Given the description of an element on the screen output the (x, y) to click on. 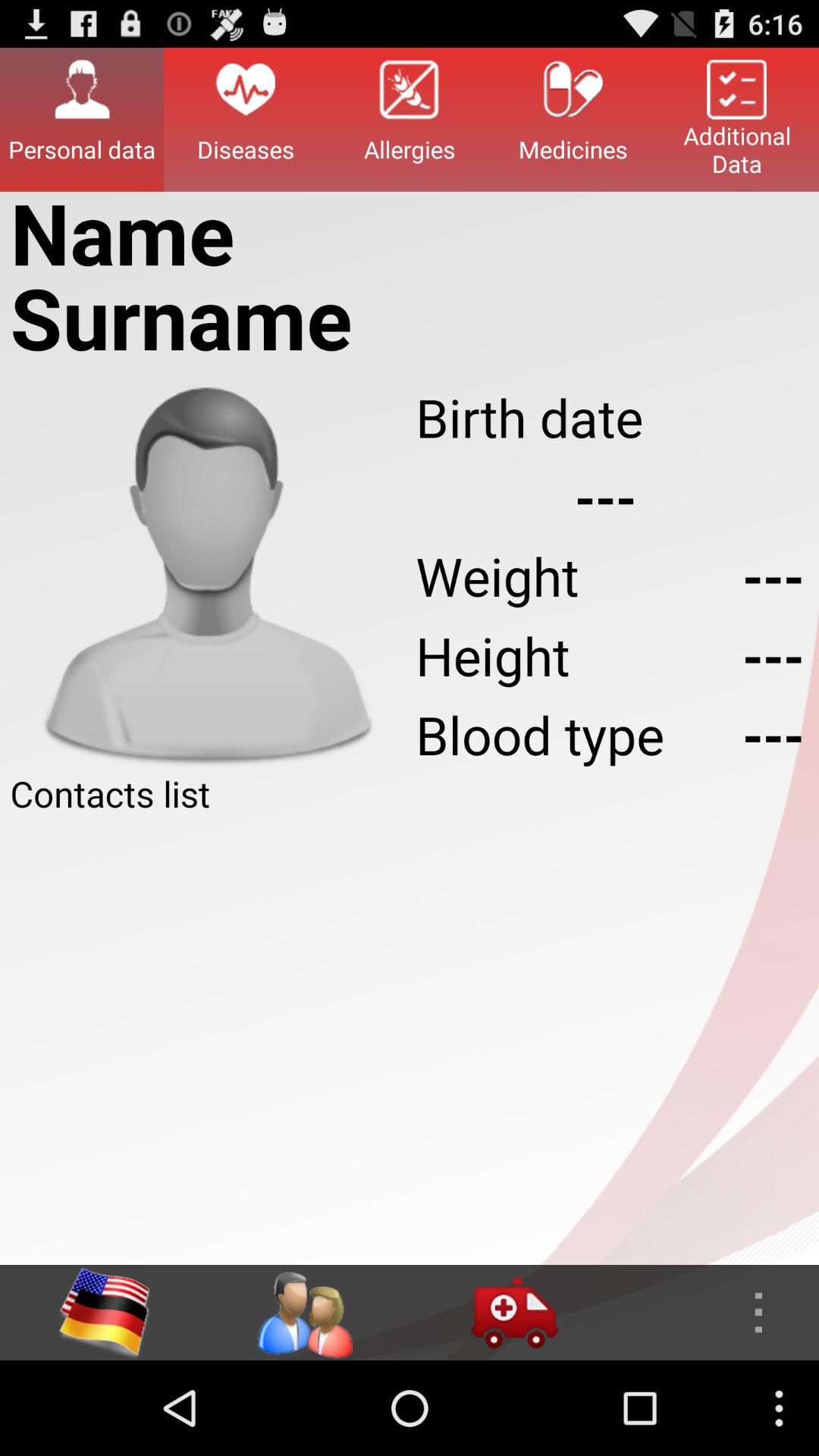
open the icon at the top (409, 119)
